Given the description of an element on the screen output the (x, y) to click on. 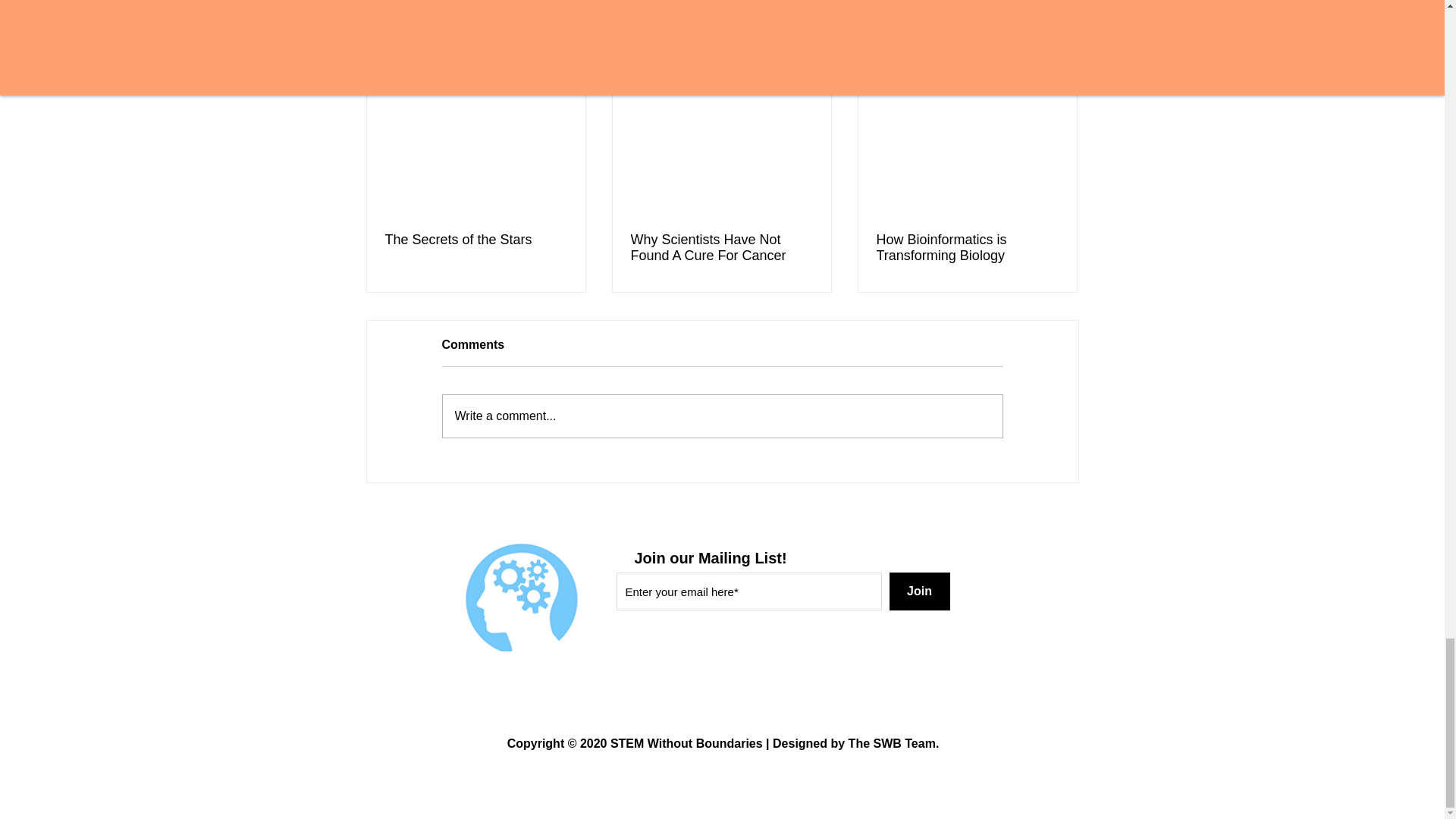
Write a comment... (722, 415)
See All (1061, 64)
The Secrets of the Stars (476, 239)
Why Scientists Have Not Found A Cure For Cancer (721, 247)
Join (918, 591)
logo.PNG (517, 596)
How Bioinformatics is Transforming Biology (967, 247)
